Given the description of an element on the screen output the (x, y) to click on. 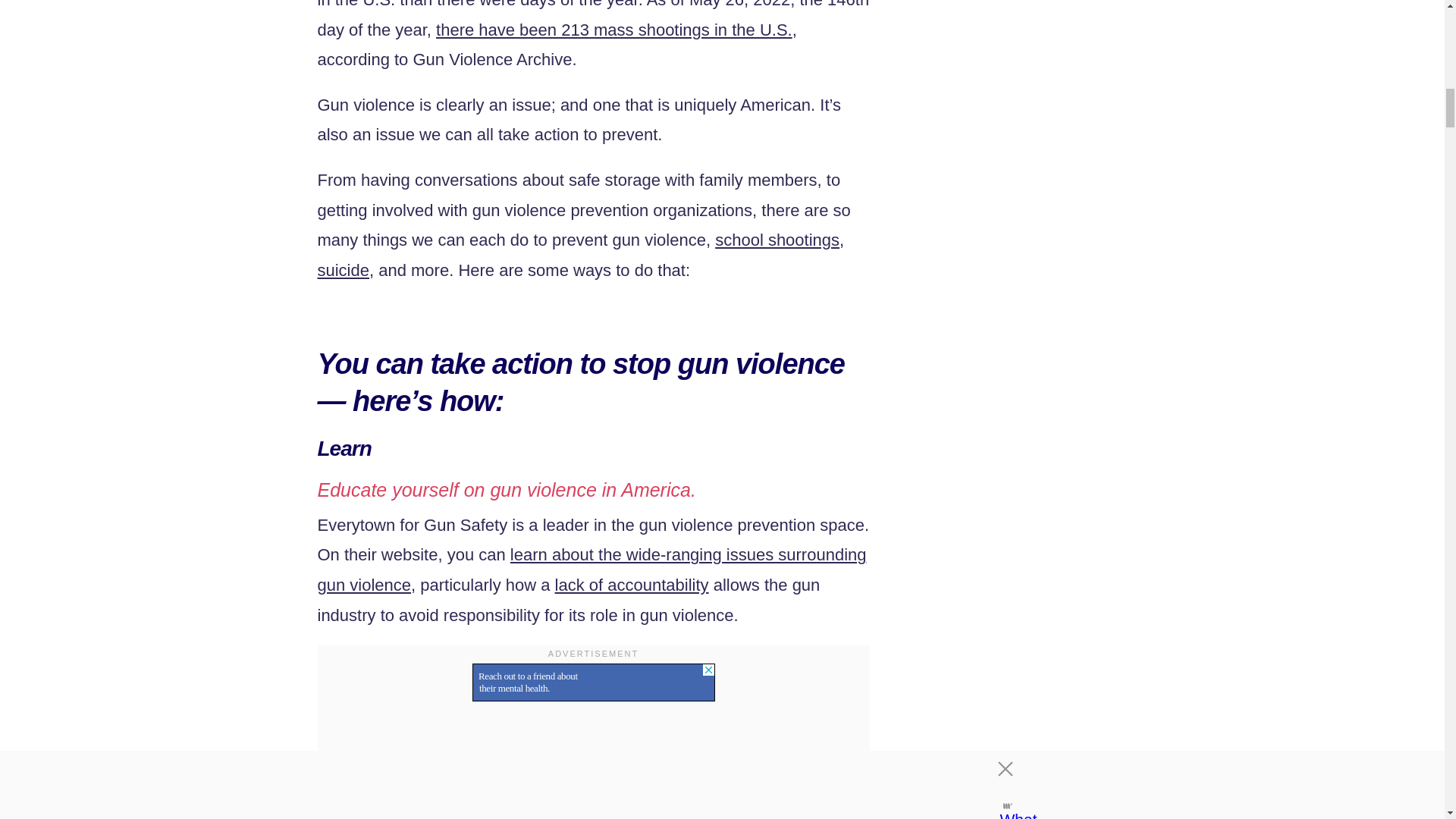
there have been 213 mass shootings in the U.S. (613, 29)
school shootings (777, 239)
3rd party ad content (592, 682)
